Given the description of an element on the screen output the (x, y) to click on. 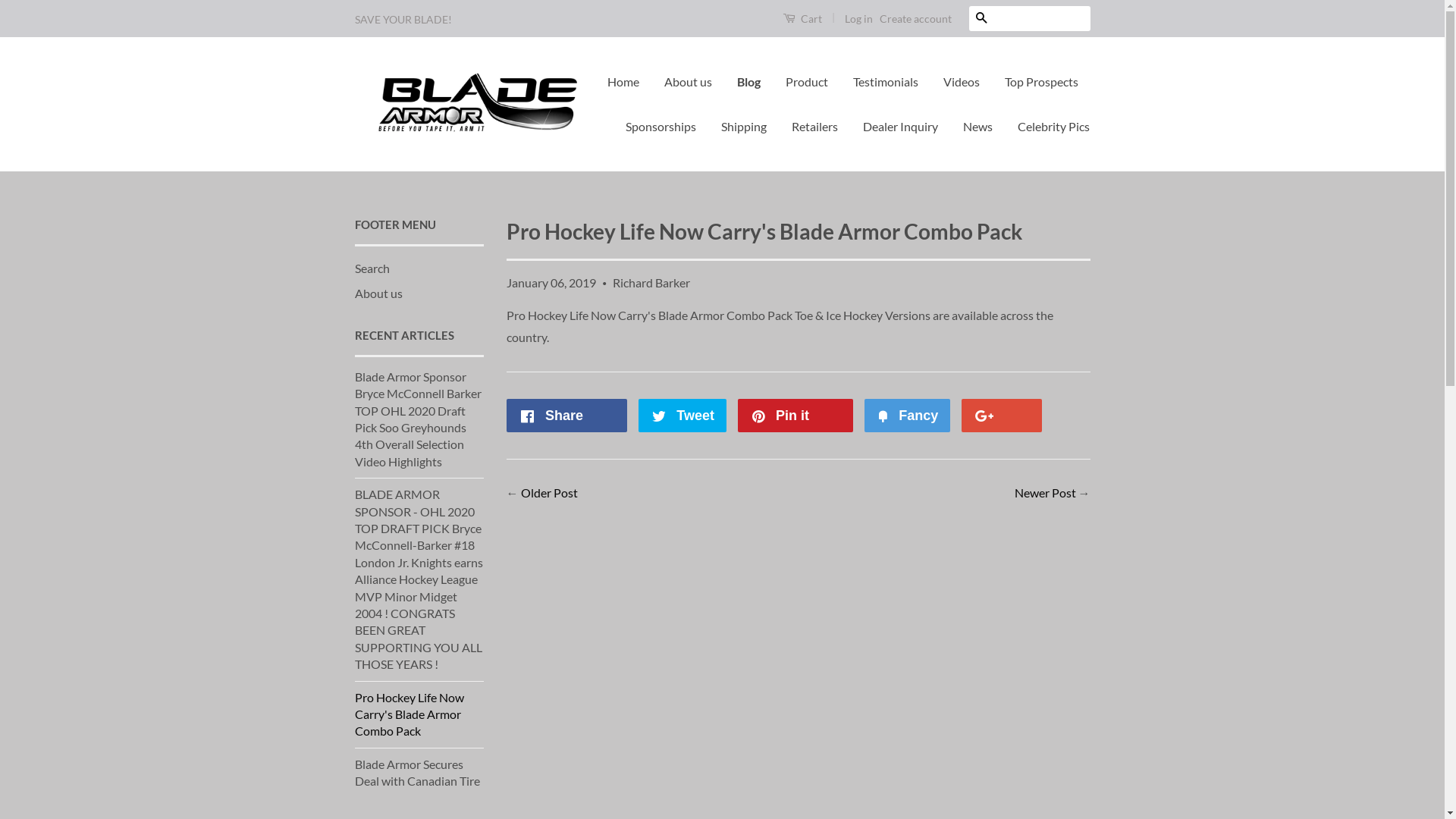
Videos Element type: text (961, 81)
Pro Hockey Life Now Carry's Blade Armor Combo Pack Element type: text (409, 714)
Log in Element type: text (858, 18)
Fancy
Add to Fancy Element type: text (907, 415)
Create account Element type: text (915, 18)
Home Element type: text (628, 81)
Tweet
Tweet on Twitter Element type: text (682, 415)
Share
Share on Facebook Element type: text (566, 415)
Sponsorships Element type: text (660, 126)
Search Element type: text (371, 267)
Blade Armor Secures Deal with Canadian Tire Element type: text (417, 771)
+1 on Google Plus Element type: text (1001, 415)
Top Prospects Element type: text (1041, 81)
News Element type: text (977, 126)
Celebrity Pics Element type: text (1047, 126)
Shipping Element type: text (743, 126)
Pin it
Pin on Pinterest Element type: text (795, 415)
Older Post Element type: text (548, 492)
Search Element type: text (981, 18)
Retailers Element type: text (814, 126)
Testimonials Element type: text (885, 81)
Newer Post Element type: text (1045, 492)
Product Element type: text (806, 81)
Blog Element type: text (748, 81)
Cart Element type: text (802, 17)
Dealer Inquiry Element type: text (900, 126)
About us Element type: text (378, 292)
About us Element type: text (687, 81)
